Given the description of an element on the screen output the (x, y) to click on. 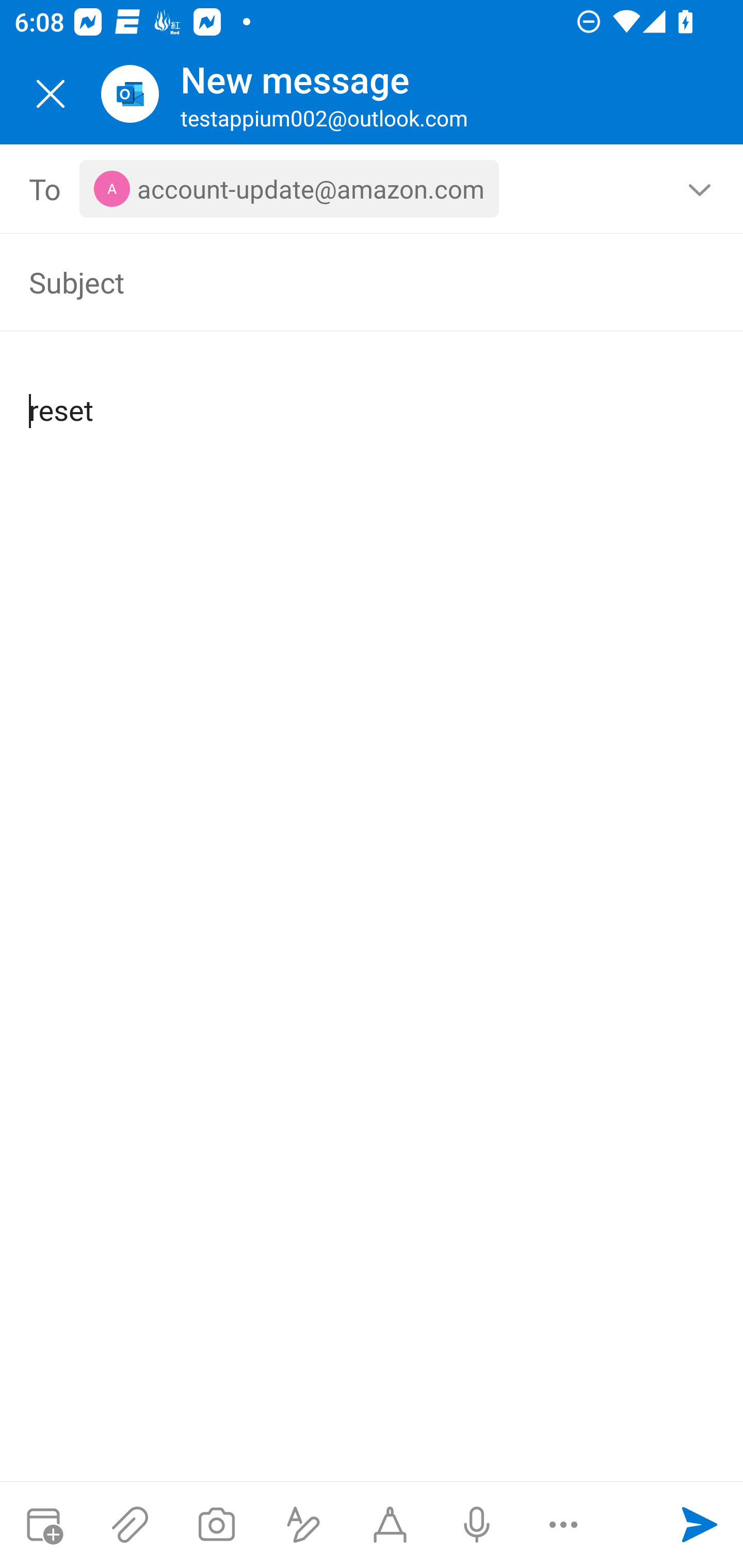
Close (50, 93)
Subject (342, 281)

reset (372, 394)
Attach meeting (43, 1524)
Attach files (129, 1524)
Take a photo (216, 1524)
Show formatting options (303, 1524)
Start Ink compose (389, 1524)
Dictation (476, 1524)
More options (563, 1524)
Send (699, 1524)
